Given the description of an element on the screen output the (x, y) to click on. 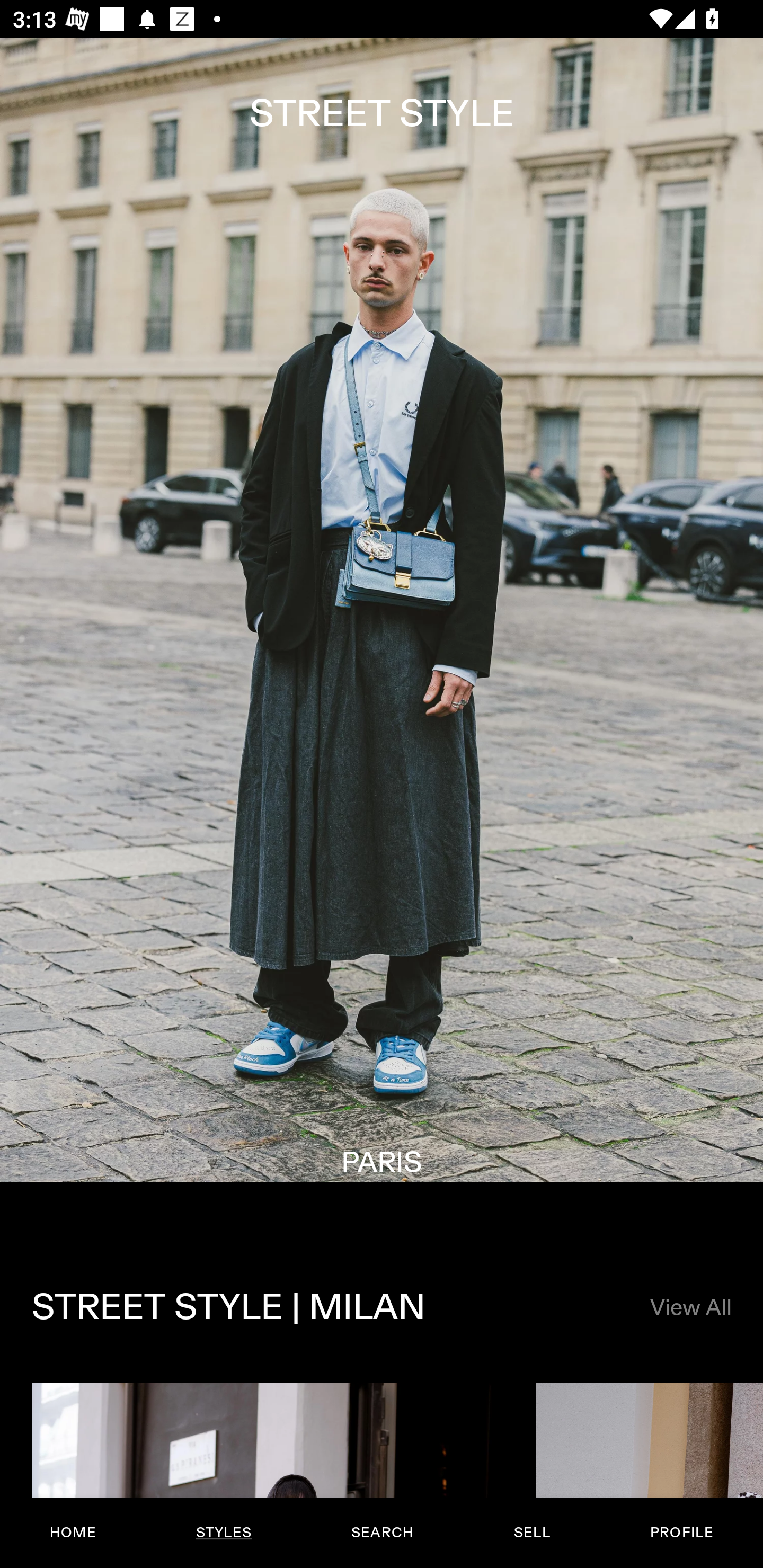
View All (690, 1308)
HOME (72, 1532)
STYLES (222, 1532)
SEARCH (381, 1532)
SELL (531, 1532)
PROFILE (681, 1532)
